Given the description of an element on the screen output the (x, y) to click on. 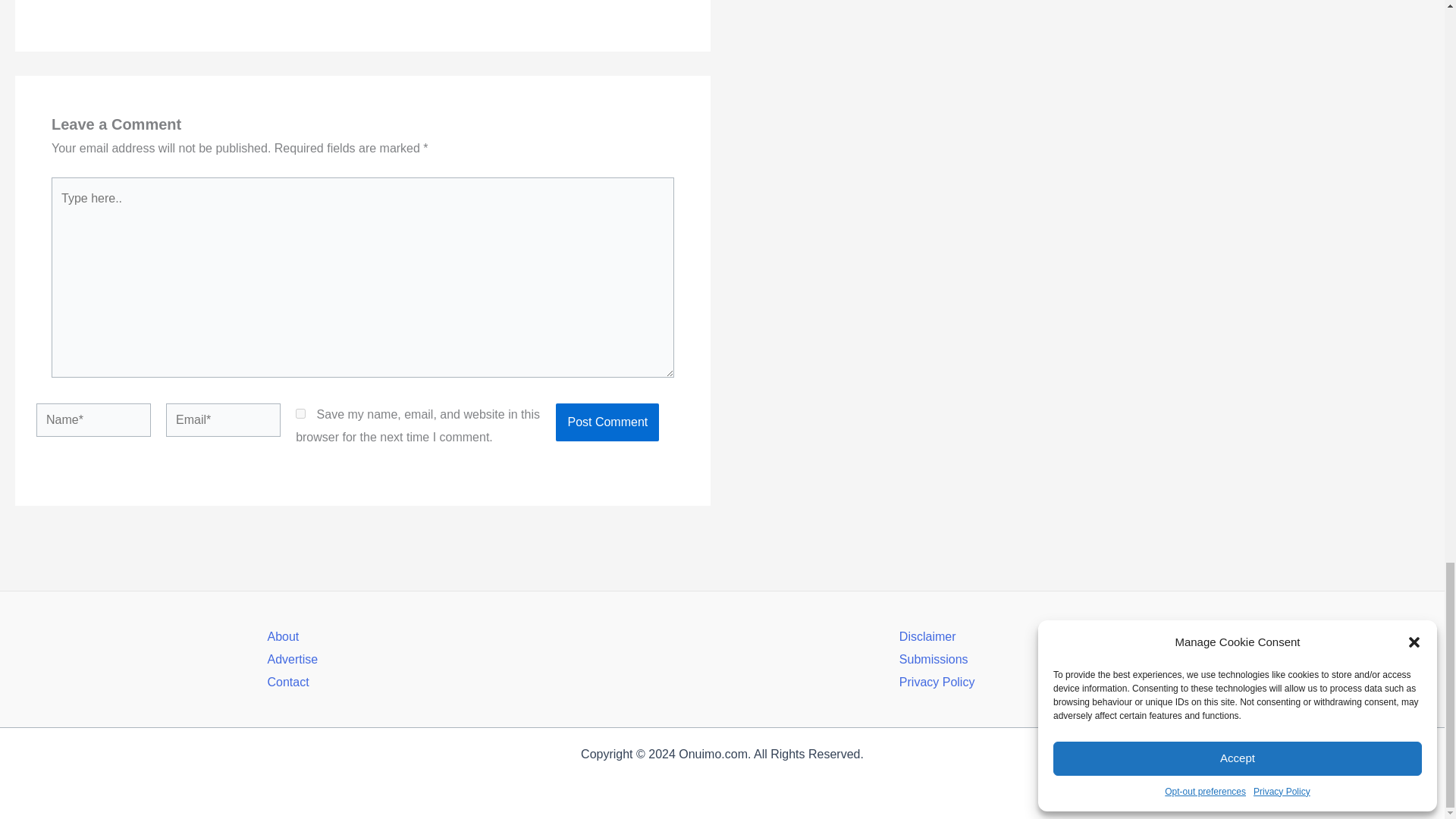
Post Comment (607, 422)
yes (300, 413)
